Given the description of an element on the screen output the (x, y) to click on. 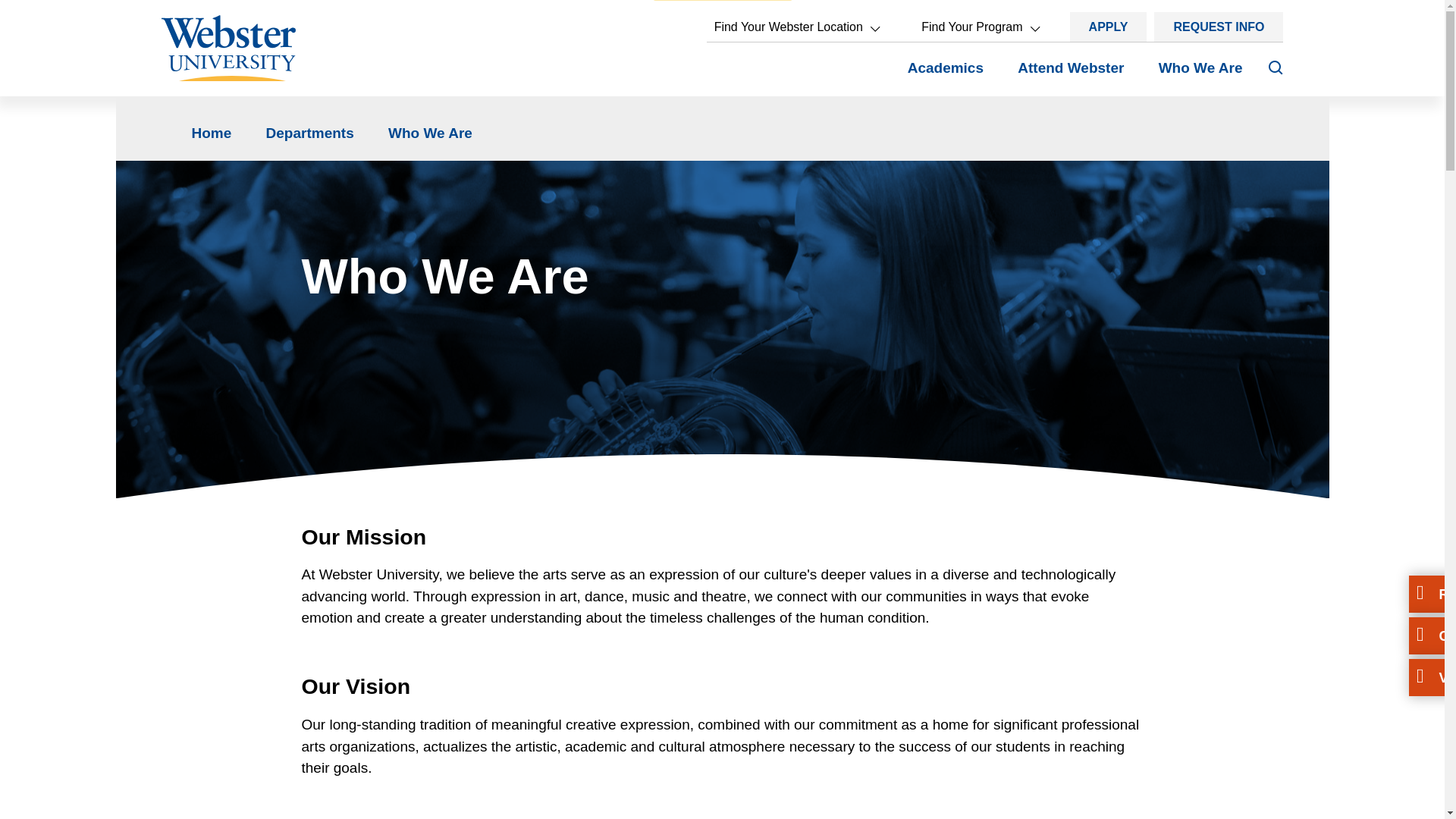
Academics (945, 76)
REQUEST INFO (1218, 26)
Attend Webster (1070, 76)
Find Your Program (980, 26)
Find Your Webster Location (796, 26)
APPLY (1108, 26)
